Given the description of an element on the screen output the (x, y) to click on. 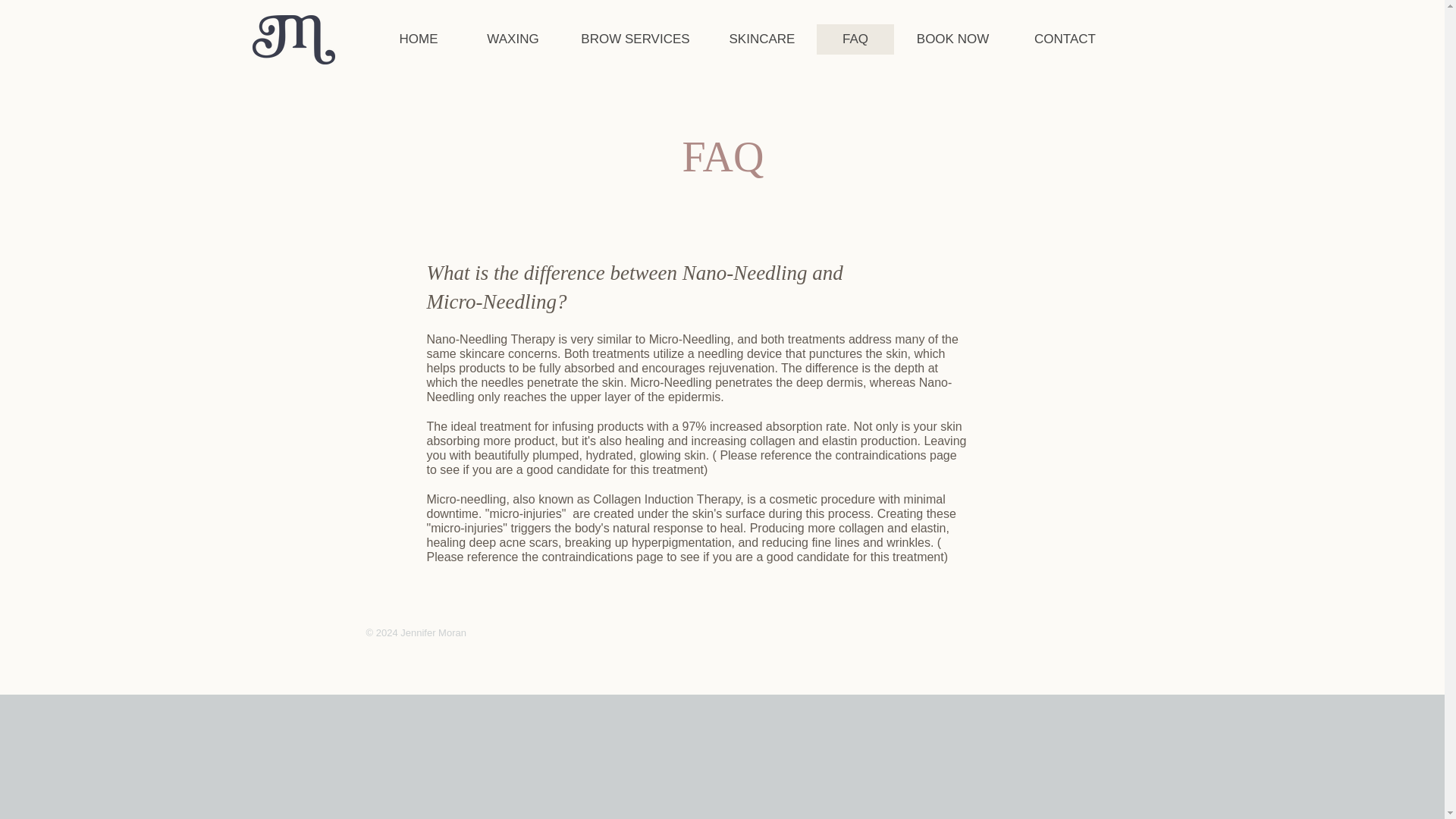
jm1.png (292, 39)
SKINCARE (760, 39)
BROW SERVICES (634, 39)
BOOK NOW (951, 39)
WAXING (513, 39)
CONTACT (1064, 39)
HOME (417, 39)
FAQ (854, 39)
